Given the description of an element on the screen output the (x, y) to click on. 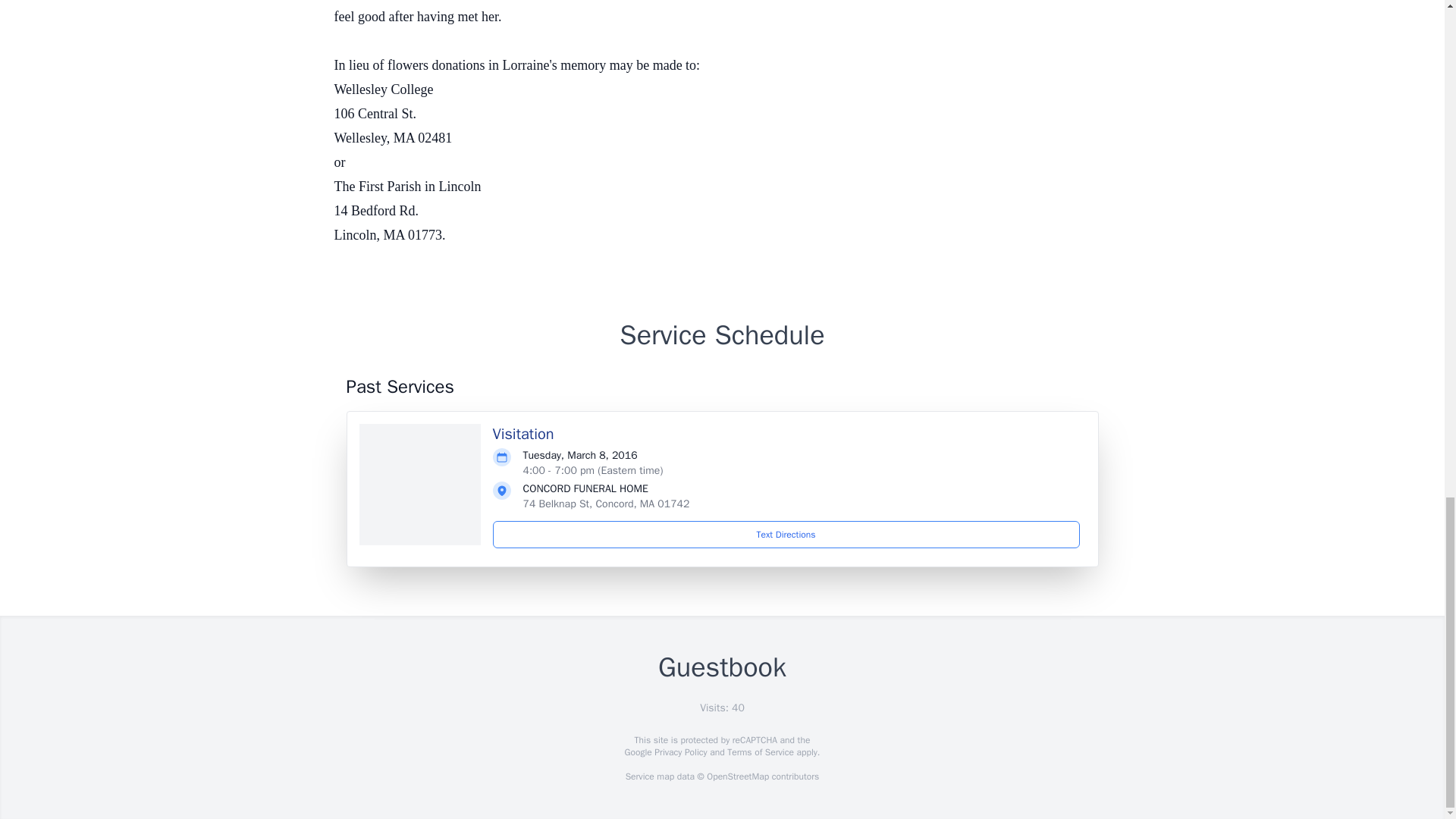
Terms of Service (759, 752)
OpenStreetMap (737, 776)
Text Directions (786, 533)
Privacy Policy (679, 752)
74 Belknap St, Concord, MA 01742 (606, 503)
